Given the description of an element on the screen output the (x, y) to click on. 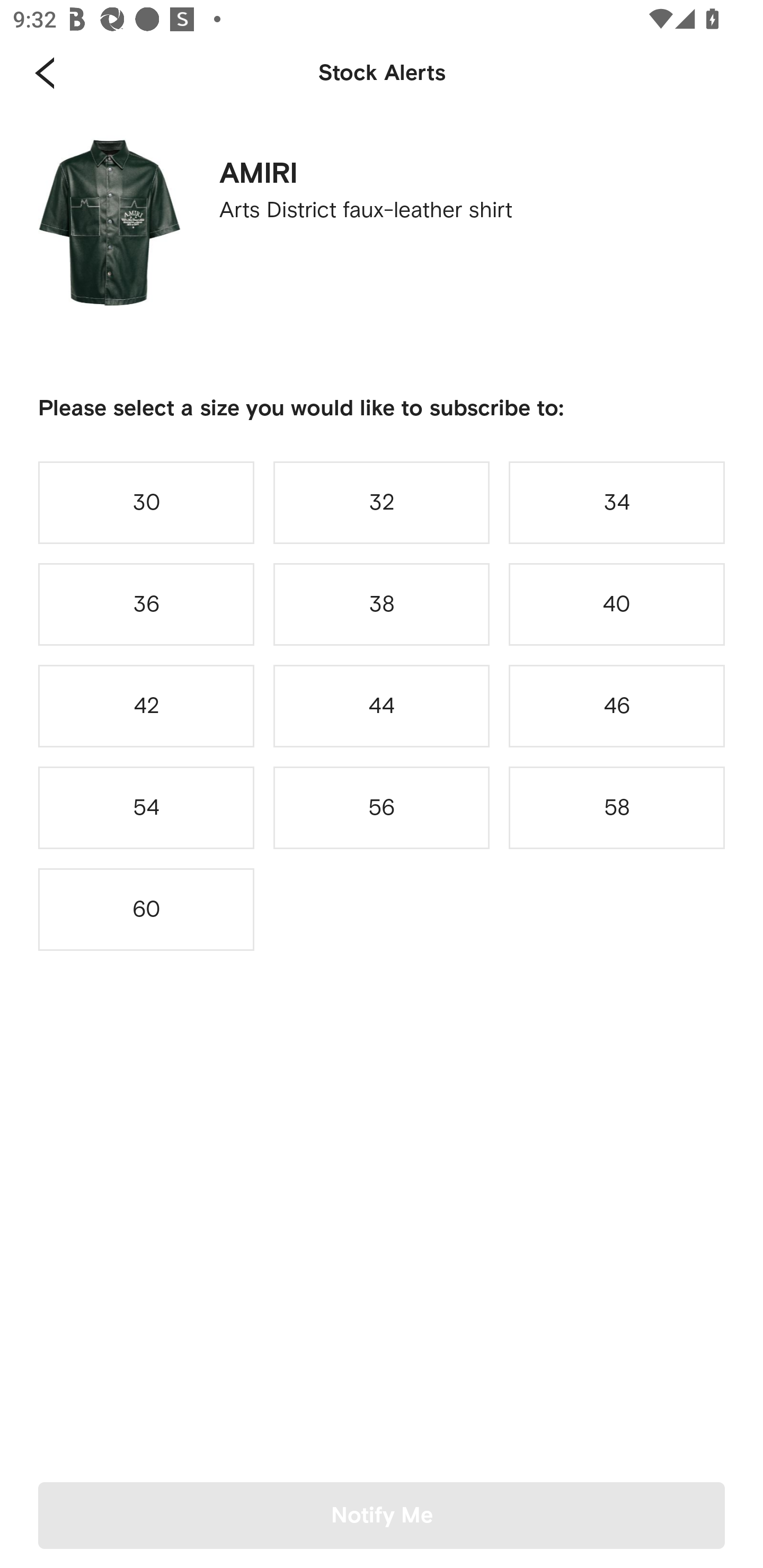
30 (146, 502)
32 (381, 502)
34 (616, 502)
36 (146, 604)
38 (381, 604)
40 (616, 604)
42 (146, 705)
44 (381, 705)
46 (616, 705)
54 (146, 807)
56 (381, 807)
58 (616, 807)
60 (146, 909)
Notify Me (381, 1515)
